Given the description of an element on the screen output the (x, y) to click on. 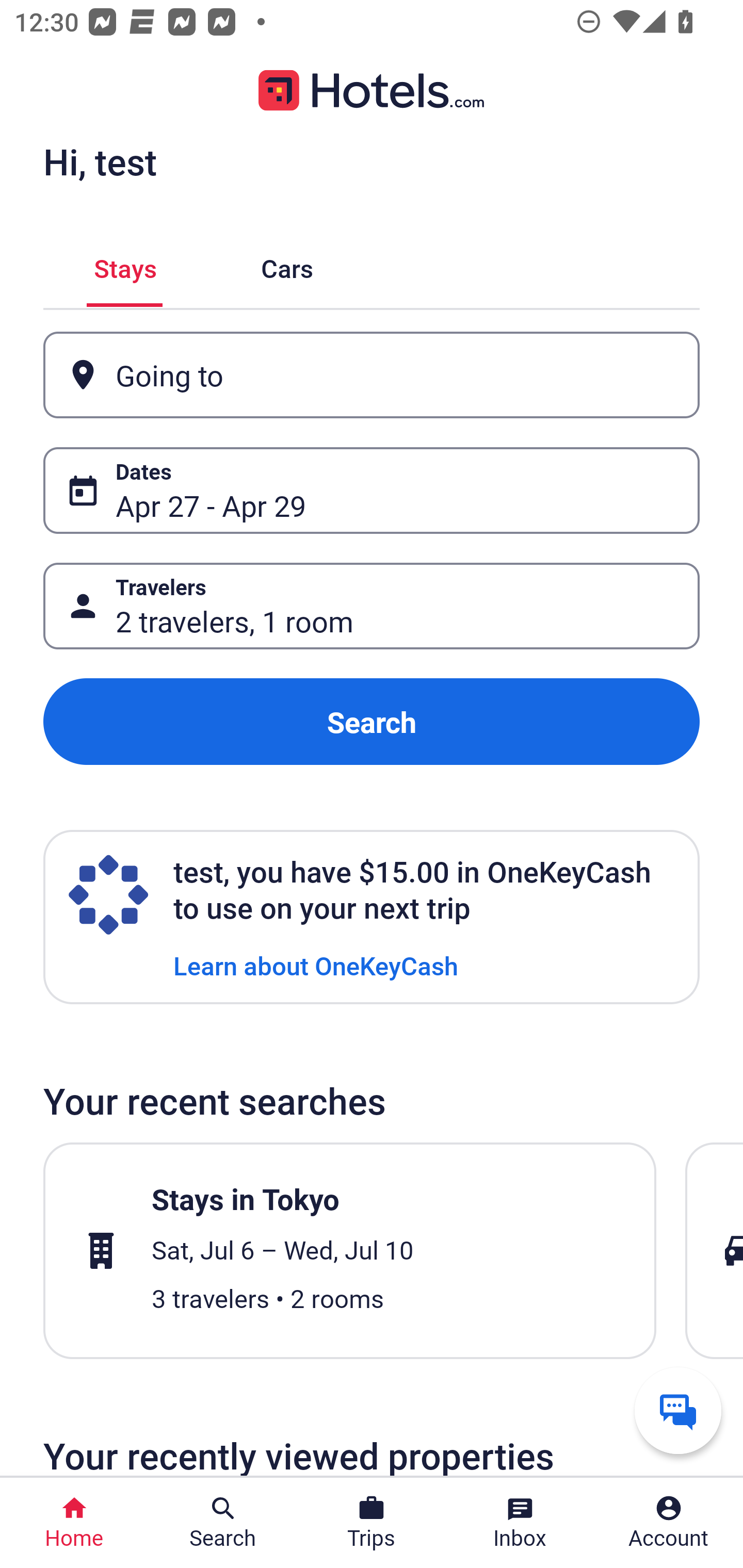
Hi, test (99, 161)
Cars (286, 265)
Going to Button (371, 375)
Dates Button Apr 27 - Apr 29 (371, 489)
Travelers Button 2 travelers, 1 room (371, 605)
Search (371, 721)
Learn about OneKeyCash Learn about OneKeyCash Link (315, 964)
Get help from a virtual agent (677, 1410)
Search Search Button (222, 1522)
Trips Trips Button (371, 1522)
Inbox Inbox Button (519, 1522)
Account Profile. Button (668, 1522)
